Given the description of an element on the screen output the (x, y) to click on. 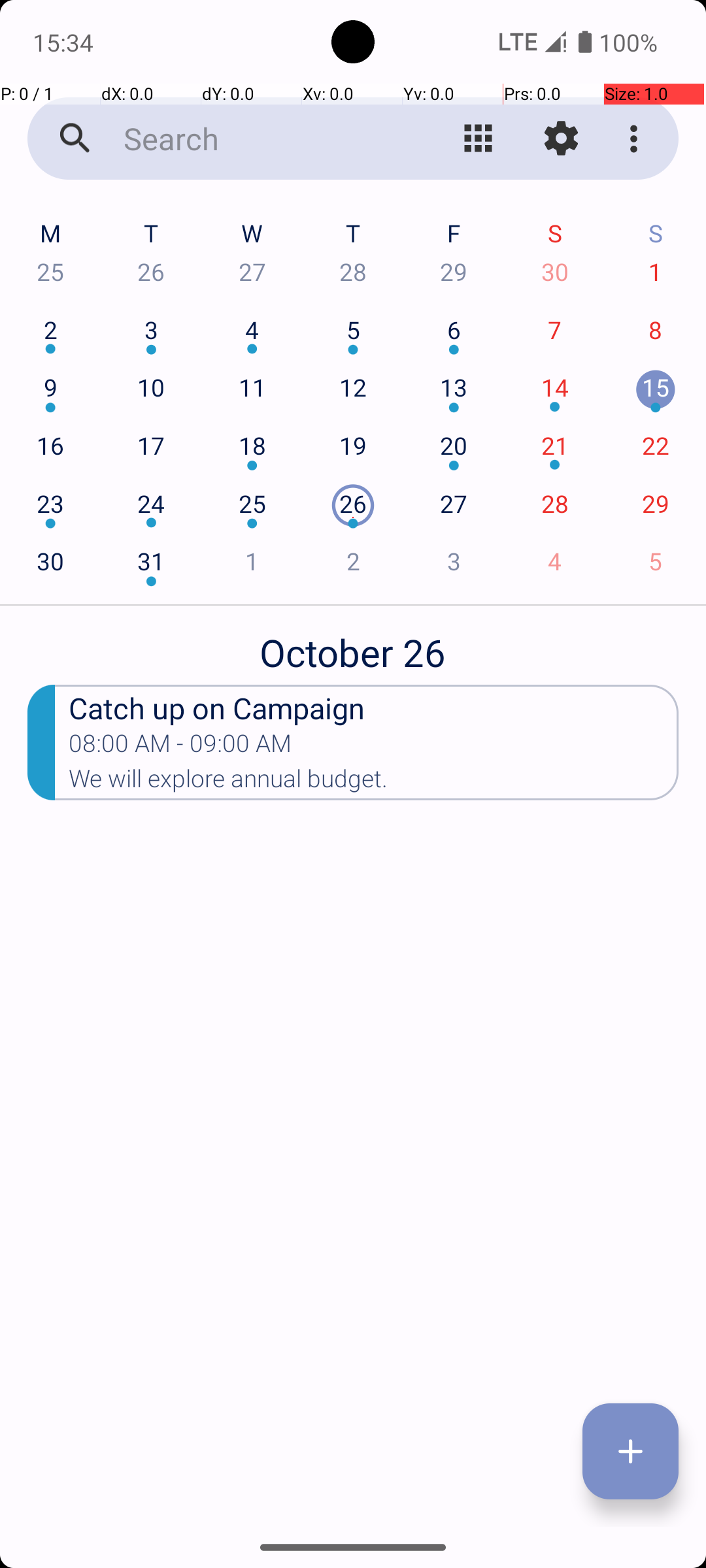
October 26 Element type: android.widget.TextView (352, 644)
08:00 AM - 09:00 AM Element type: android.widget.TextView (179, 747)
We will explore annual budget. Element type: android.widget.TextView (373, 782)
